Given the description of an element on the screen output the (x, y) to click on. 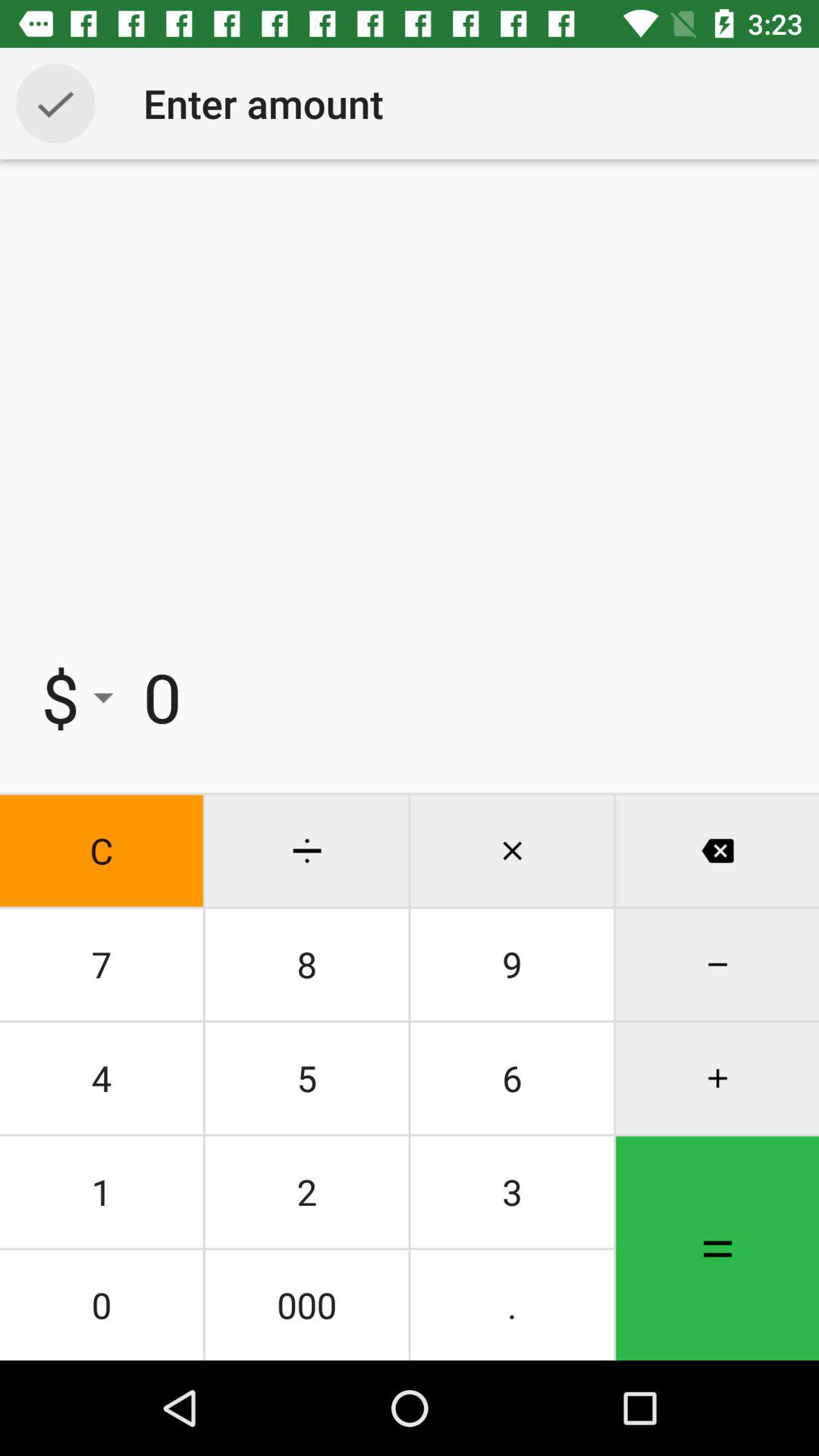
turn on icon above the 0 (306, 1191)
